Given the description of an element on the screen output the (x, y) to click on. 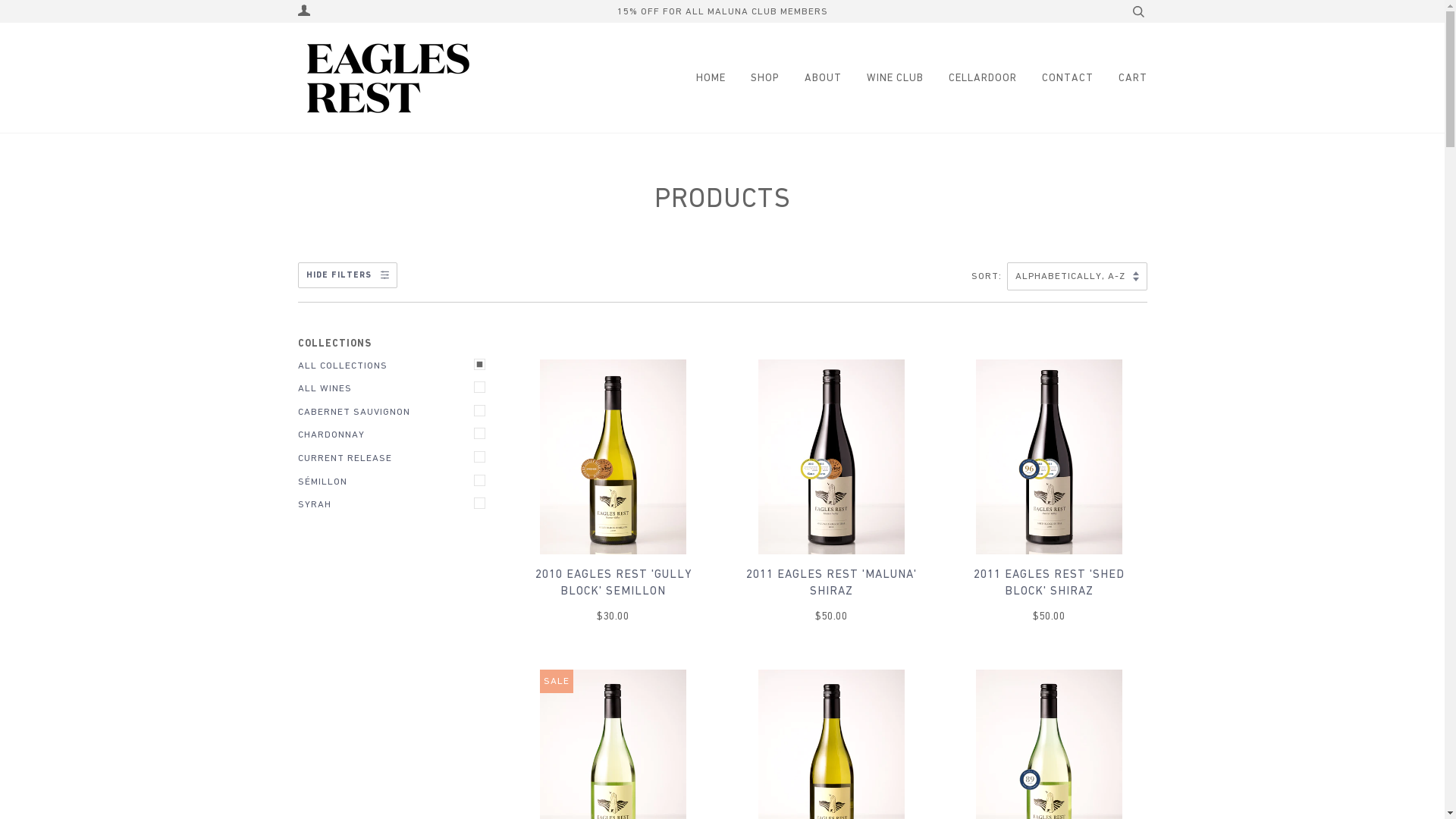
HIDE FILTERS Element type: text (346, 275)
ABOUT Element type: text (810, 76)
CELLARDOOR Element type: text (970, 76)
HOME Element type: text (706, 76)
2010 EAGLES REST 'GULLY BLOCK' SEMILLON
$30.00 Element type: text (612, 594)
CURRENT RELEASE Element type: text (394, 458)
SHOP Element type: text (753, 76)
WINE CLUB Element type: text (882, 76)
2011 EAGLES REST 'SHED BLOCK' SHIRAZ
$50.00 Element type: text (1048, 594)
CABERNET SAUVIGNON Element type: text (394, 411)
CONTACT Element type: text (1056, 76)
CART Element type: text (1120, 76)
CHARDONNAY Element type: text (394, 434)
SYRAH Element type: text (394, 504)
2011 EAGLES REST 'MALUNA' SHIRAZ
$50.00 Element type: text (830, 594)
ALL COLLECTIONS Element type: text (394, 365)
ALL WINES Element type: text (394, 388)
